Given the description of an element on the screen output the (x, y) to click on. 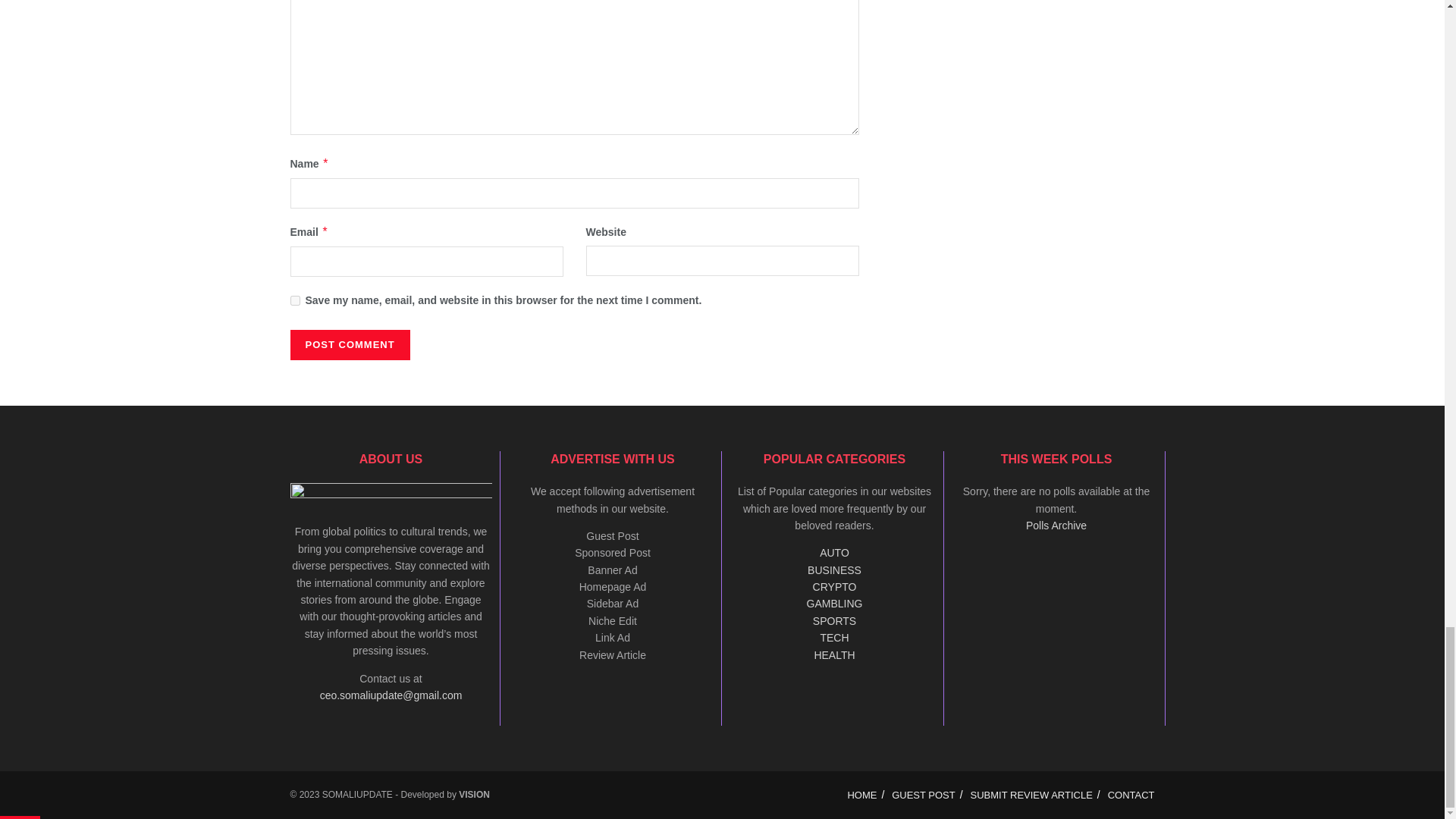
yes (294, 300)
Post Comment (349, 345)
